Given the description of an element on the screen output the (x, y) to click on. 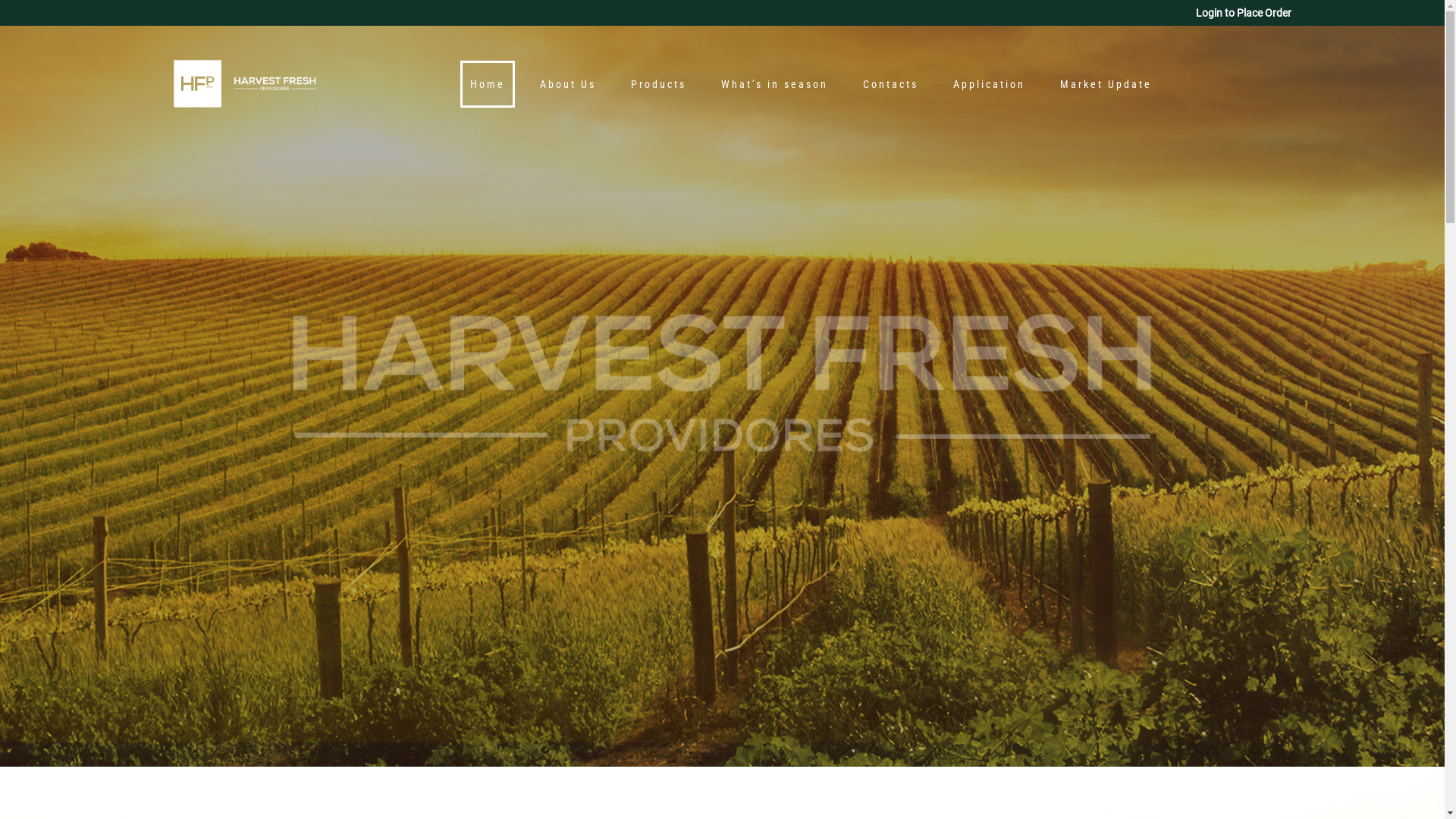
Contacts Element type: text (890, 83)
Home Element type: text (487, 83)
About Us Element type: text (567, 83)
HF_Logo_White Element type: hover (722, 383)
Login to Place Order Element type: text (1242, 12)
Products Element type: text (658, 83)
Market Update Element type: text (1105, 83)
Application Element type: text (989, 83)
